Given the description of an element on the screen output the (x, y) to click on. 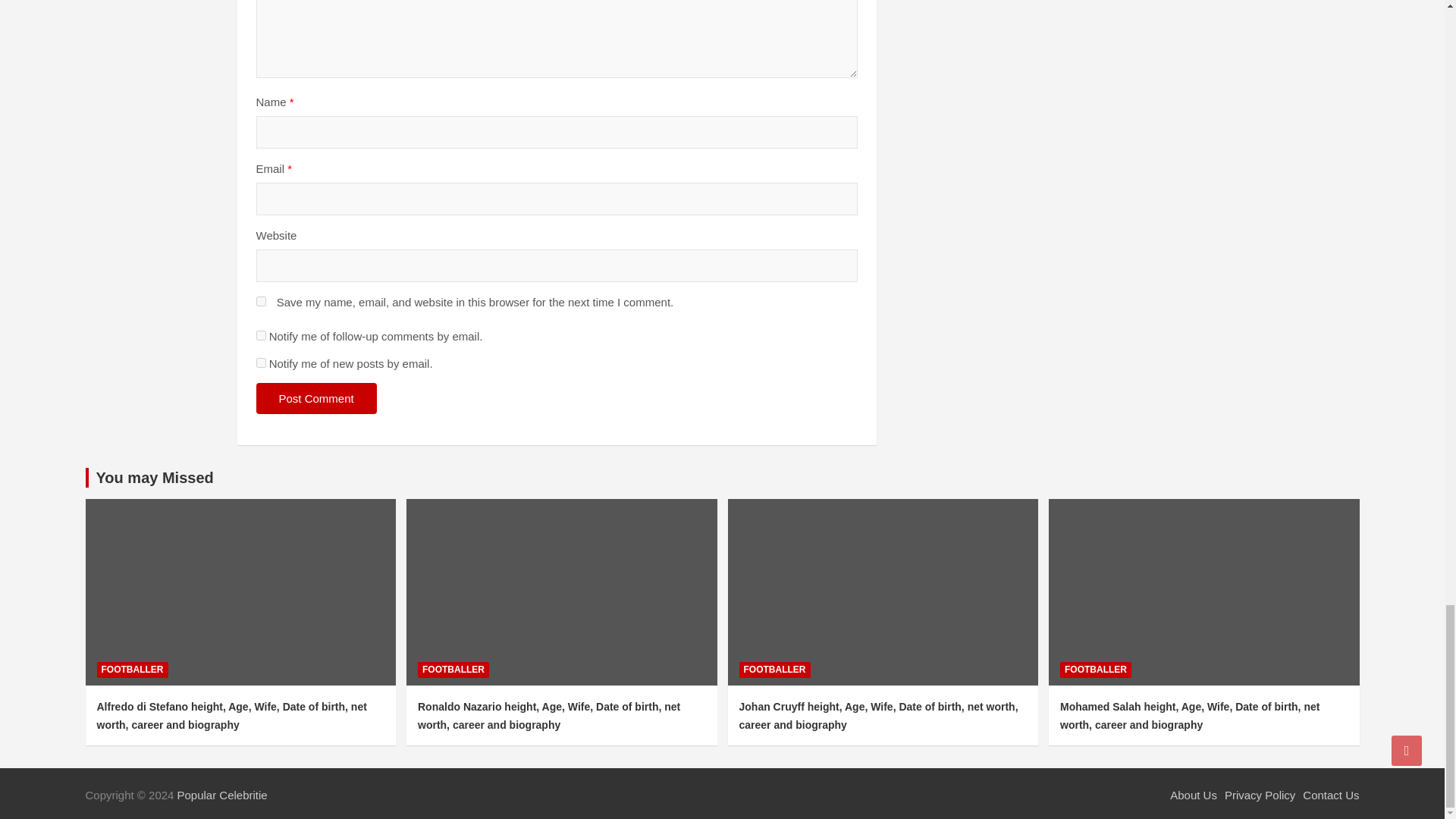
yes (261, 301)
Post Comment (316, 398)
Popular Celebritie (221, 795)
Post Comment (316, 398)
subscribe (261, 335)
subscribe (261, 362)
